Given the description of an element on the screen output the (x, y) to click on. 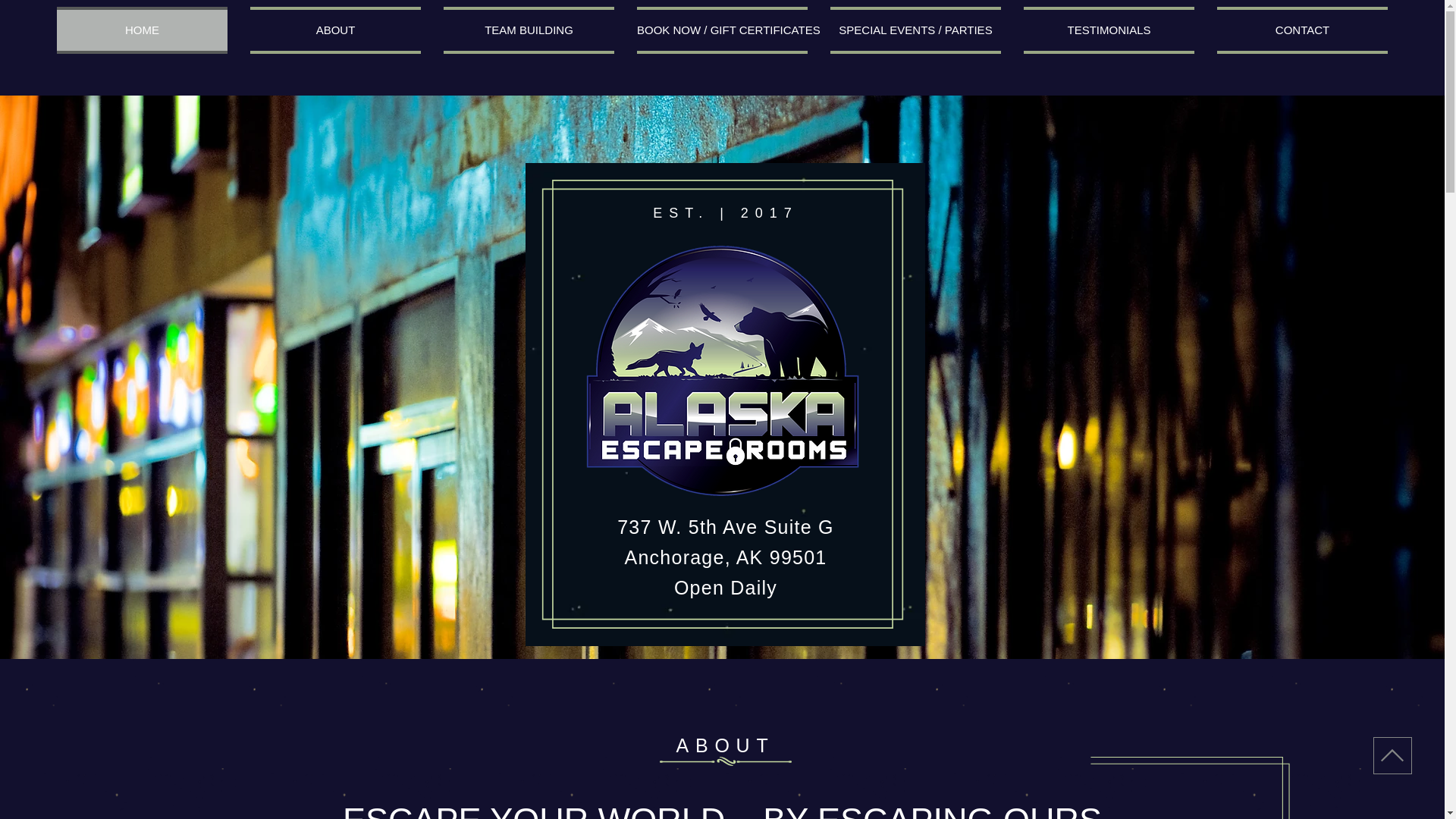
TEAM BUILDING (529, 30)
ABOUT (335, 30)
HOME (141, 30)
CONTACT (1302, 30)
TESTIMONIALS (1108, 30)
